Given the description of an element on the screen output the (x, y) to click on. 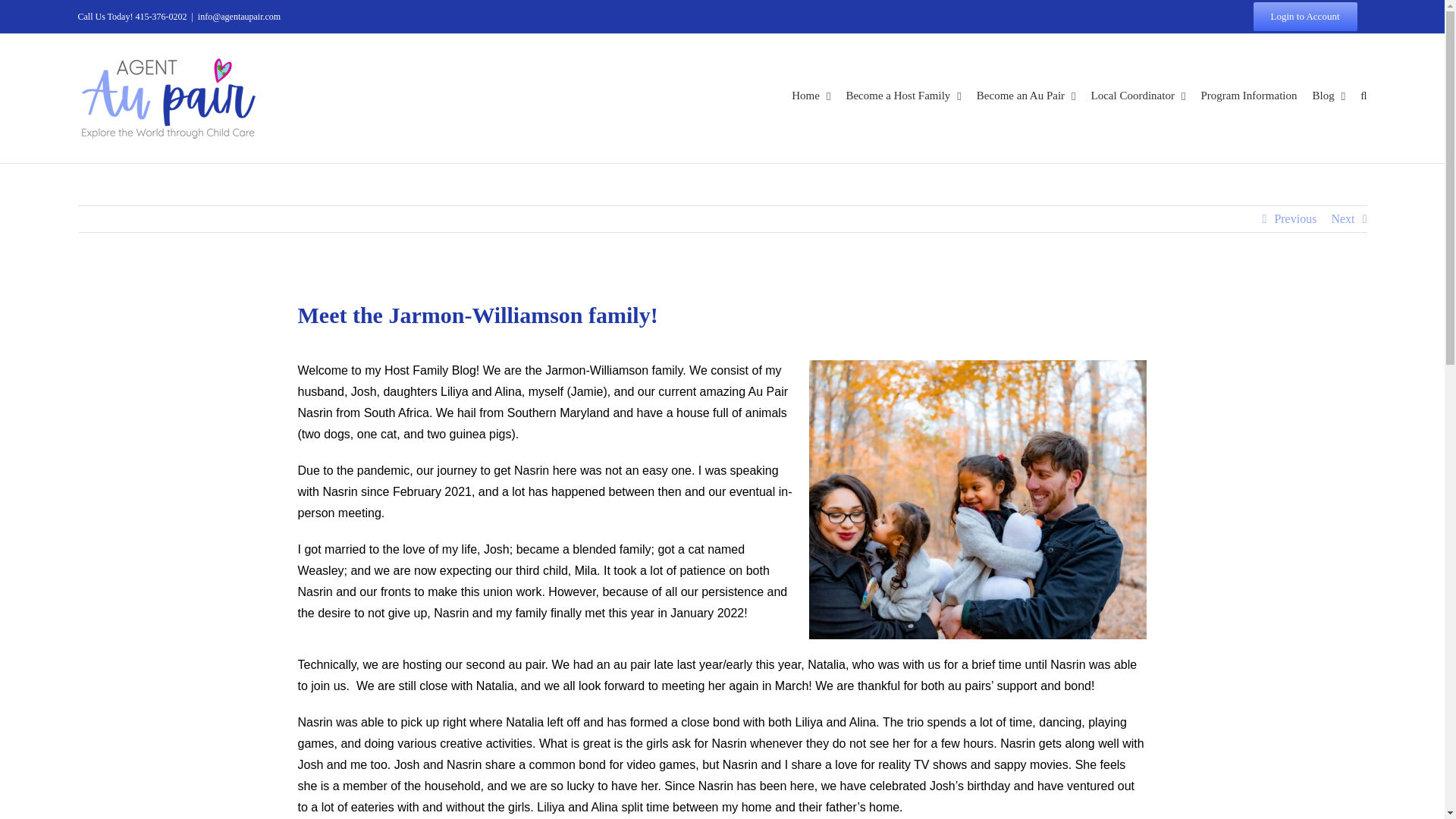
Become a Host Family (902, 96)
Login to Account (1305, 16)
